Given the description of an element on the screen output the (x, y) to click on. 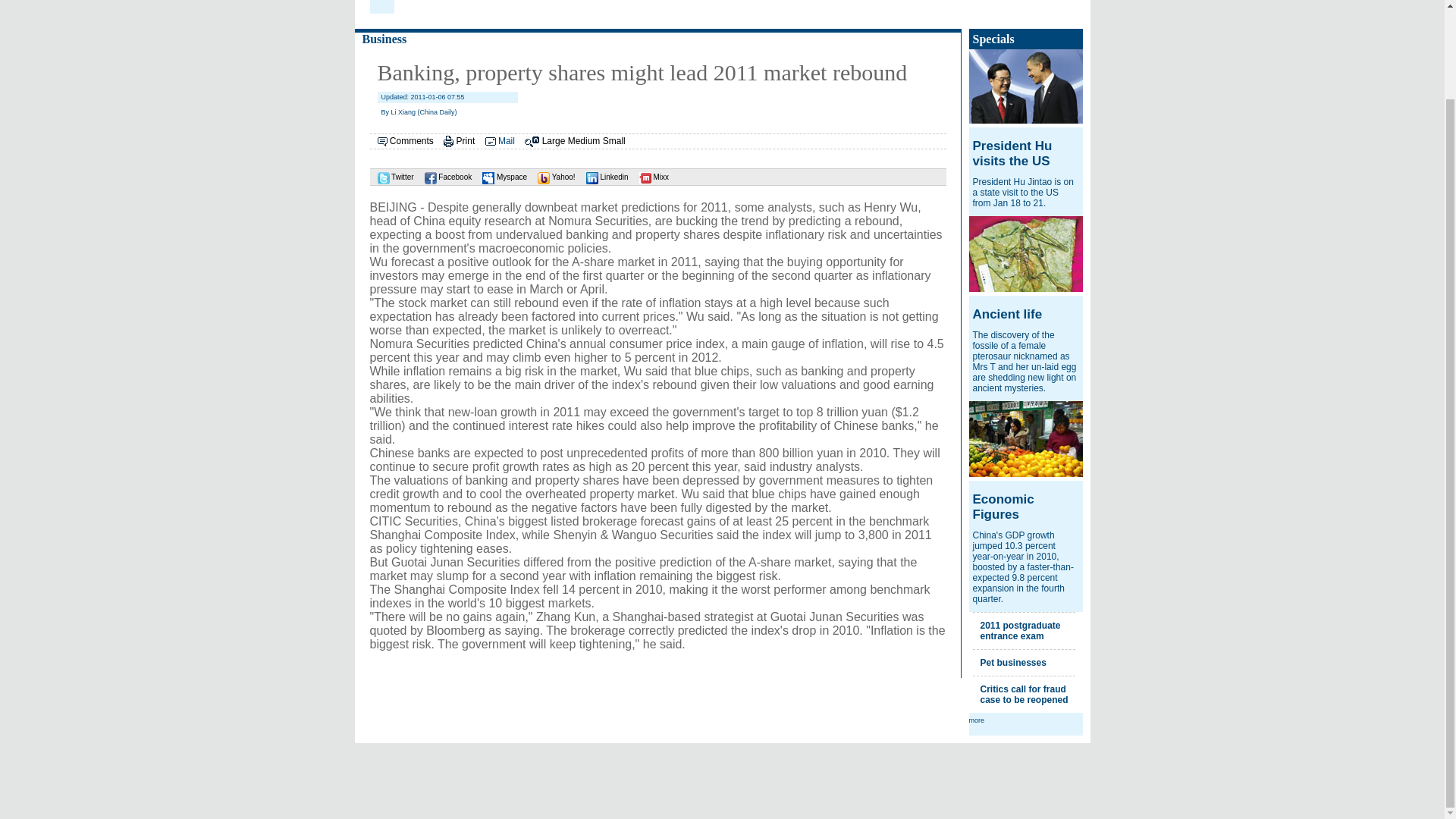
Comments (411, 140)
Ancient life (1007, 314)
2011 postgraduate entrance exam (1019, 630)
Mail (506, 140)
Share to Mixx (649, 176)
Share to Yahoo! Buzz (552, 176)
Economic Figures (1002, 506)
Large (553, 140)
Medium (583, 140)
more (977, 719)
